Given the description of an element on the screen output the (x, y) to click on. 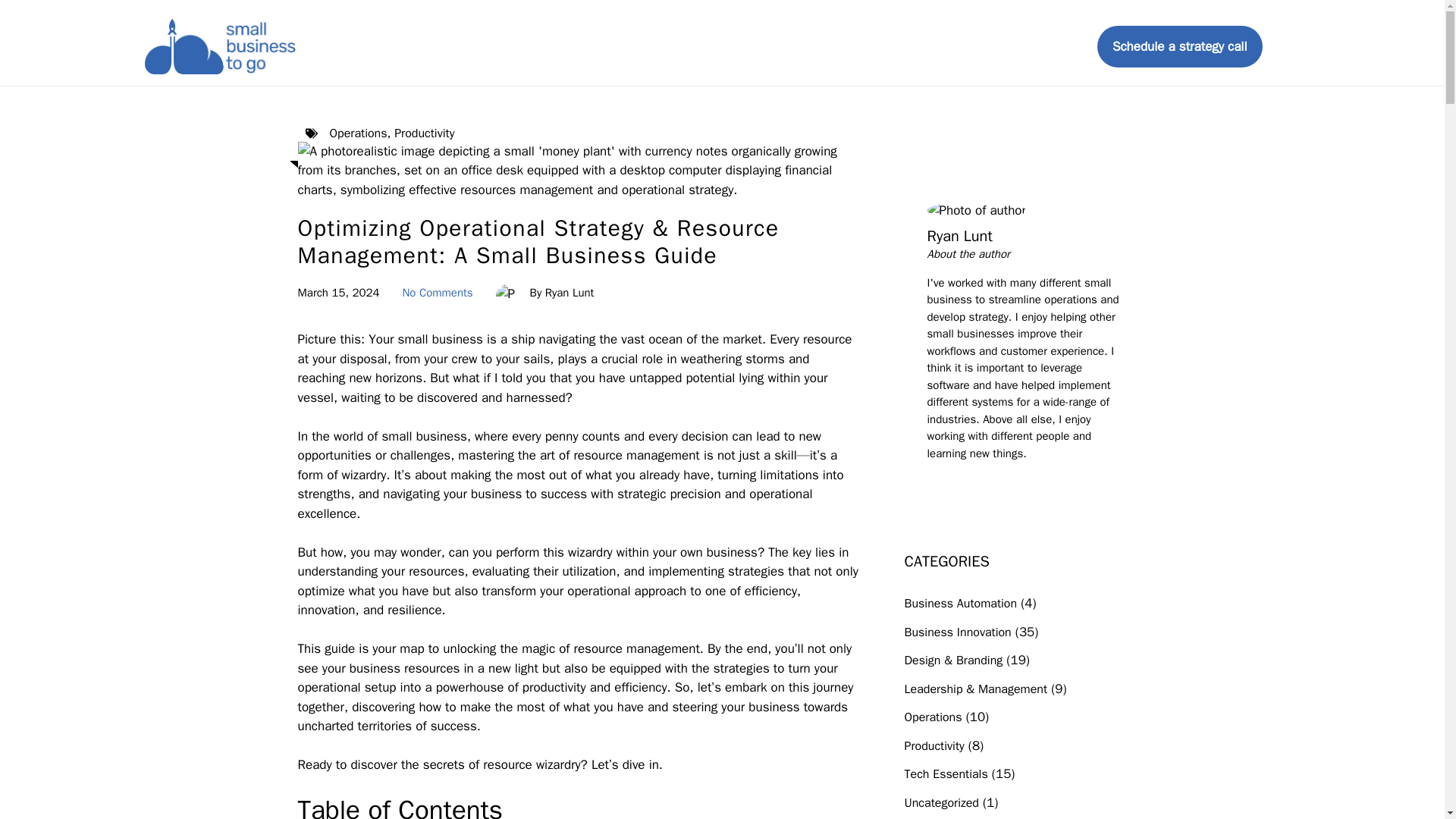
Operations (358, 133)
Business Automation (960, 603)
Schedule a strategy call (1179, 46)
Productivity (424, 133)
No Comments (436, 292)
